Given the description of an element on the screen output the (x, y) to click on. 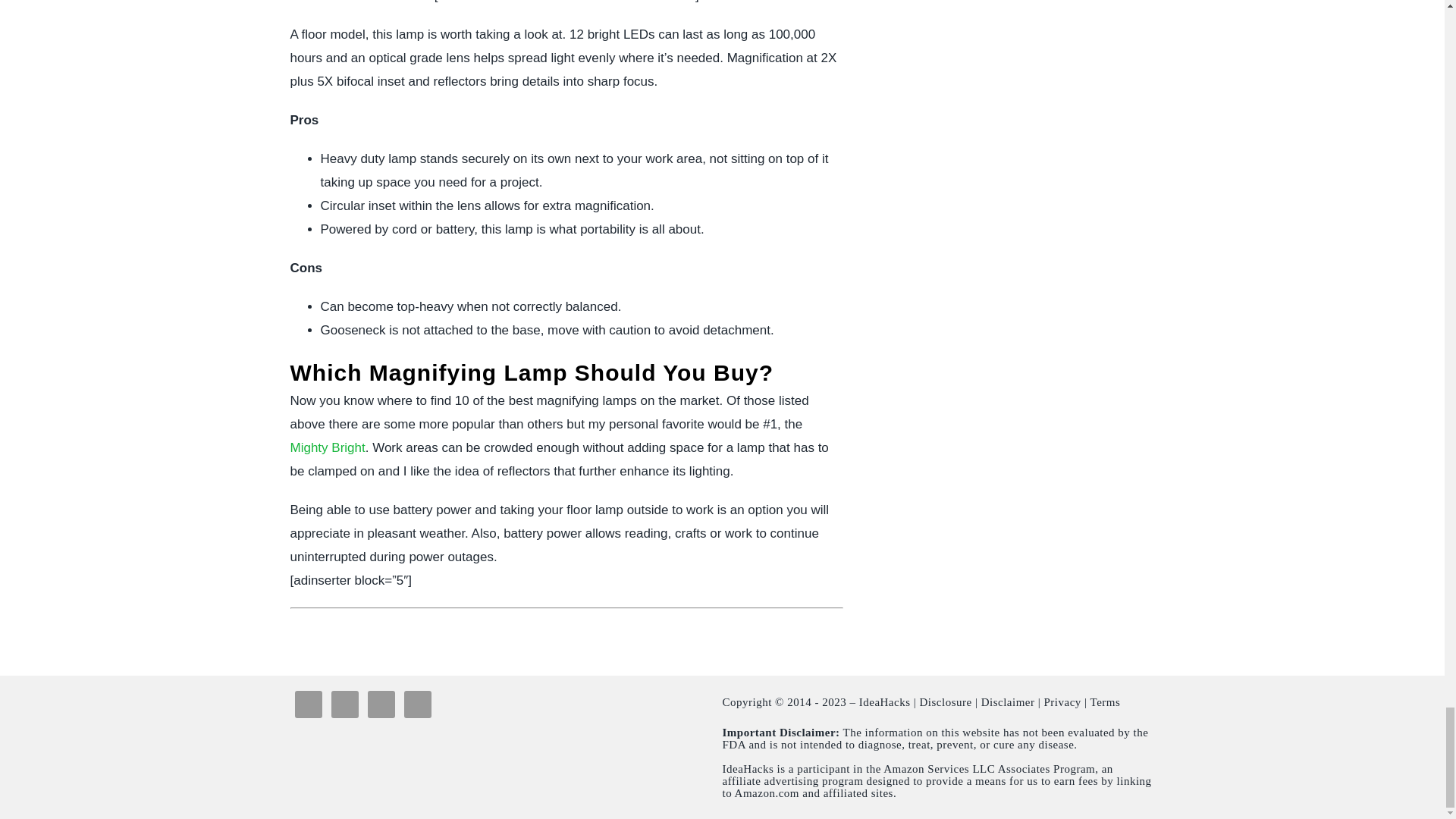
Disclosure (946, 702)
Privacy (1062, 702)
Mighty Bright (327, 447)
Terms (1105, 702)
Disclaimer (1008, 702)
